Given the description of an element on the screen output the (x, y) to click on. 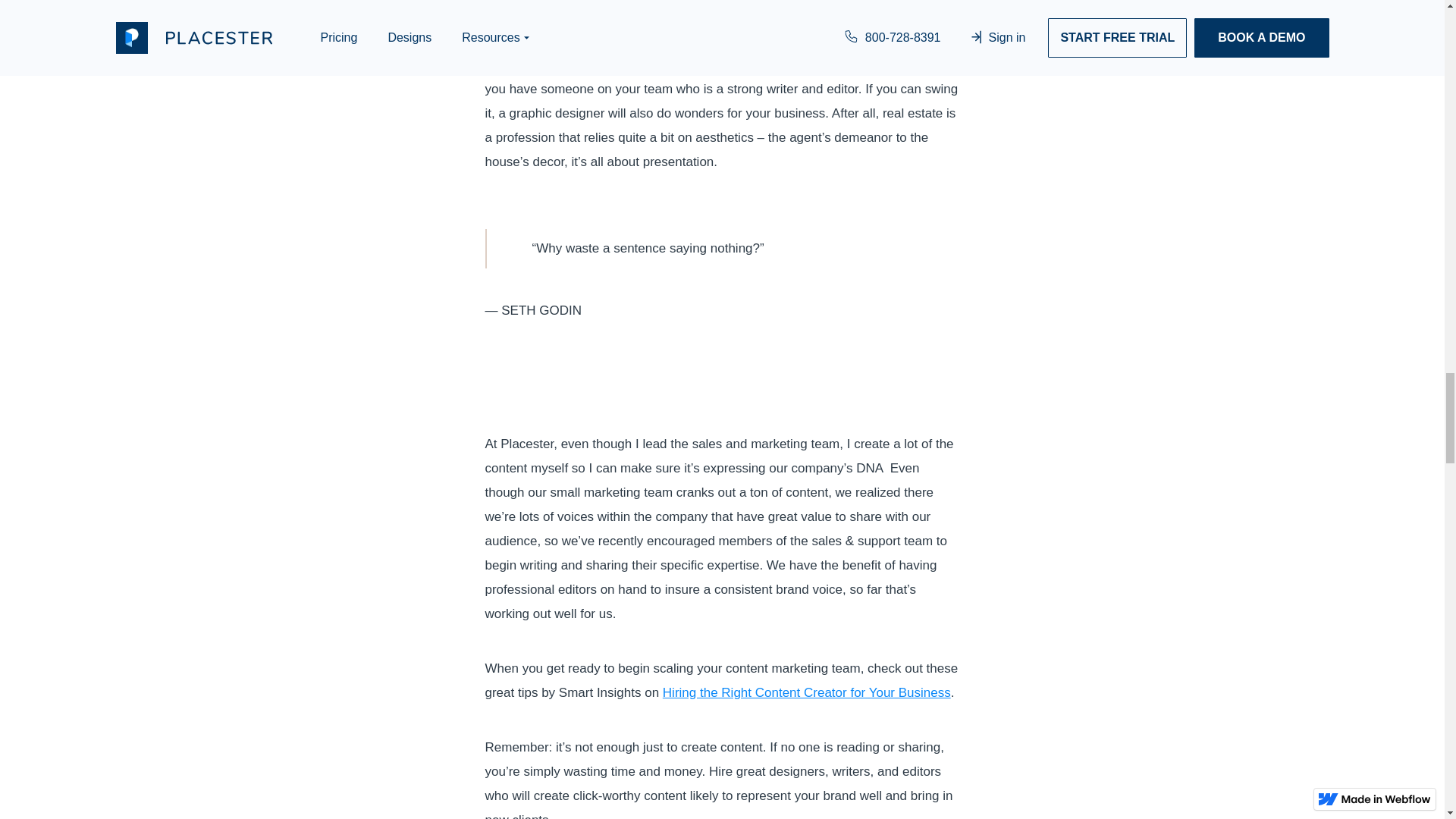
Hiring the Right Content Creator for Your Business (806, 692)
